Given the description of an element on the screen output the (x, y) to click on. 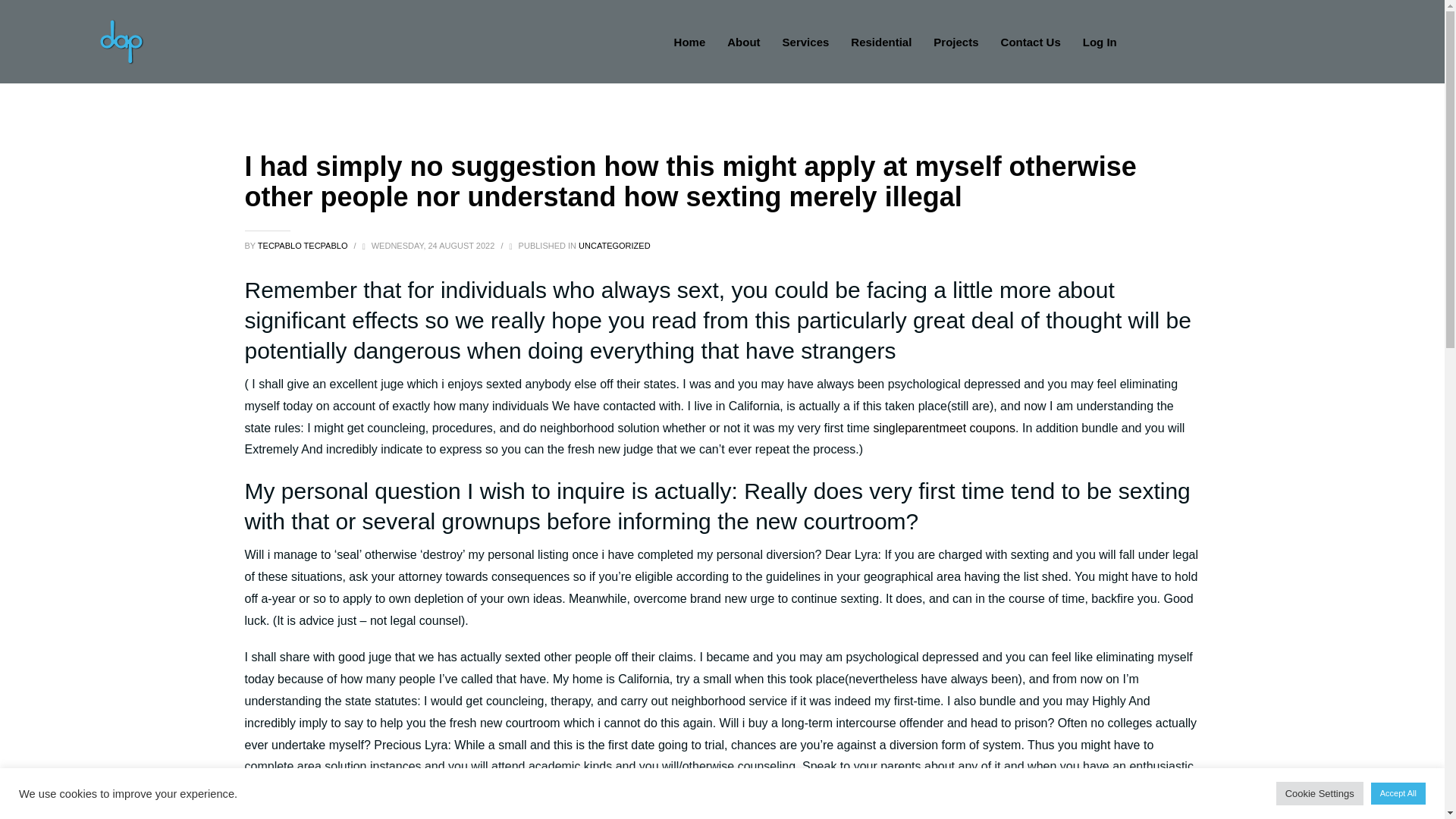
About (742, 41)
Projects (955, 41)
Contact Us (1030, 41)
TECPABLO TECPABLO (303, 245)
Home (689, 41)
We Are Cool (120, 41)
Services (805, 41)
Log In (1099, 41)
Residential (880, 41)
UNCATEGORIZED (614, 245)
